Given the description of an element on the screen output the (x, y) to click on. 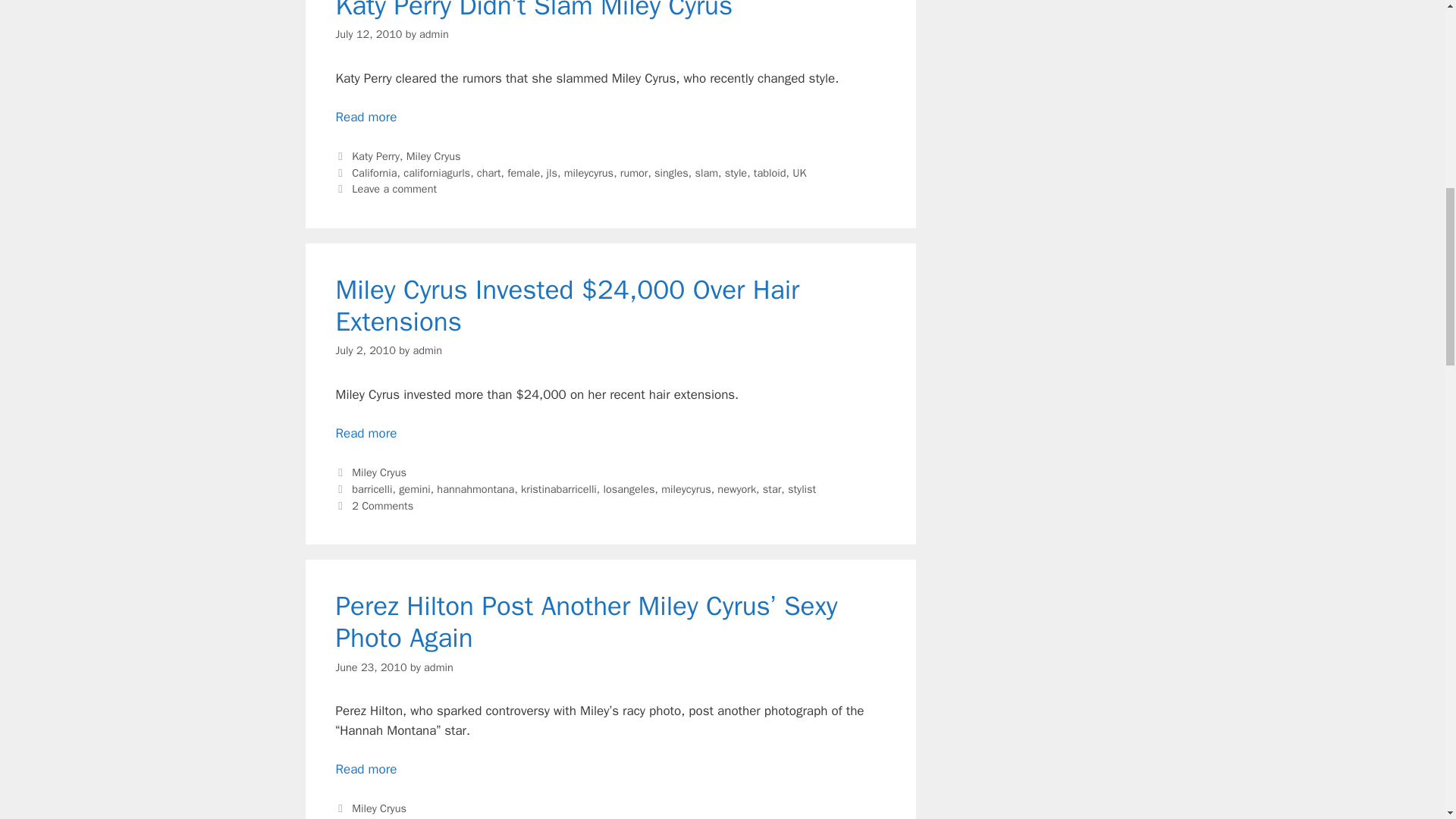
Read more (365, 433)
hannahmontana (474, 489)
UK (799, 172)
Katy Perry (375, 155)
chart (488, 172)
style (735, 172)
tabloid (770, 172)
View all posts by admin (437, 666)
kristinabarricelli (558, 489)
View all posts by admin (433, 33)
